Given the description of an element on the screen output the (x, y) to click on. 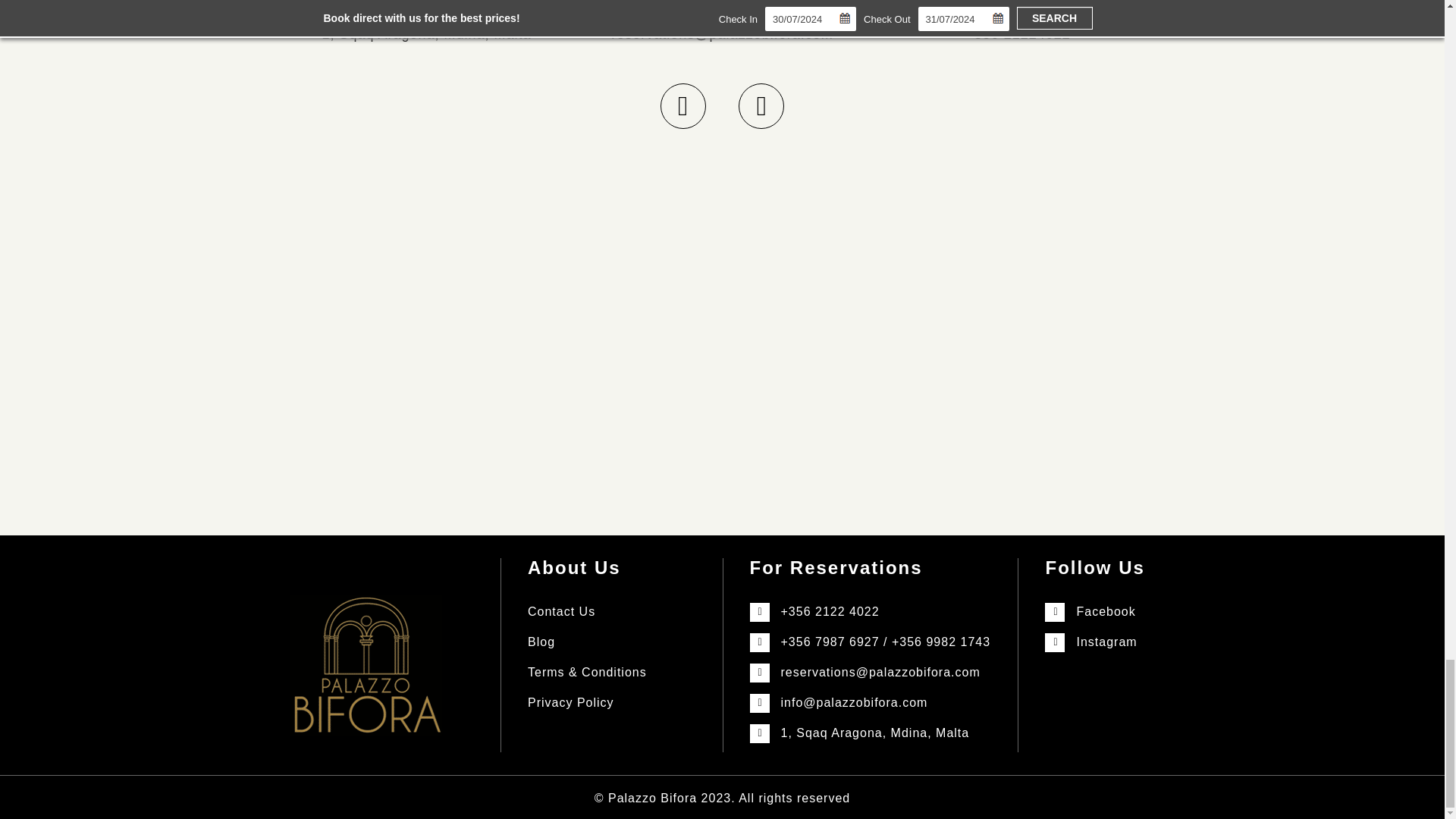
Privacy Policy (570, 702)
Instagram (1106, 641)
Facebook (1105, 611)
356 21224022 (1022, 33)
Contact Us (561, 611)
Blog (540, 641)
